Given the description of an element on the screen output the (x, y) to click on. 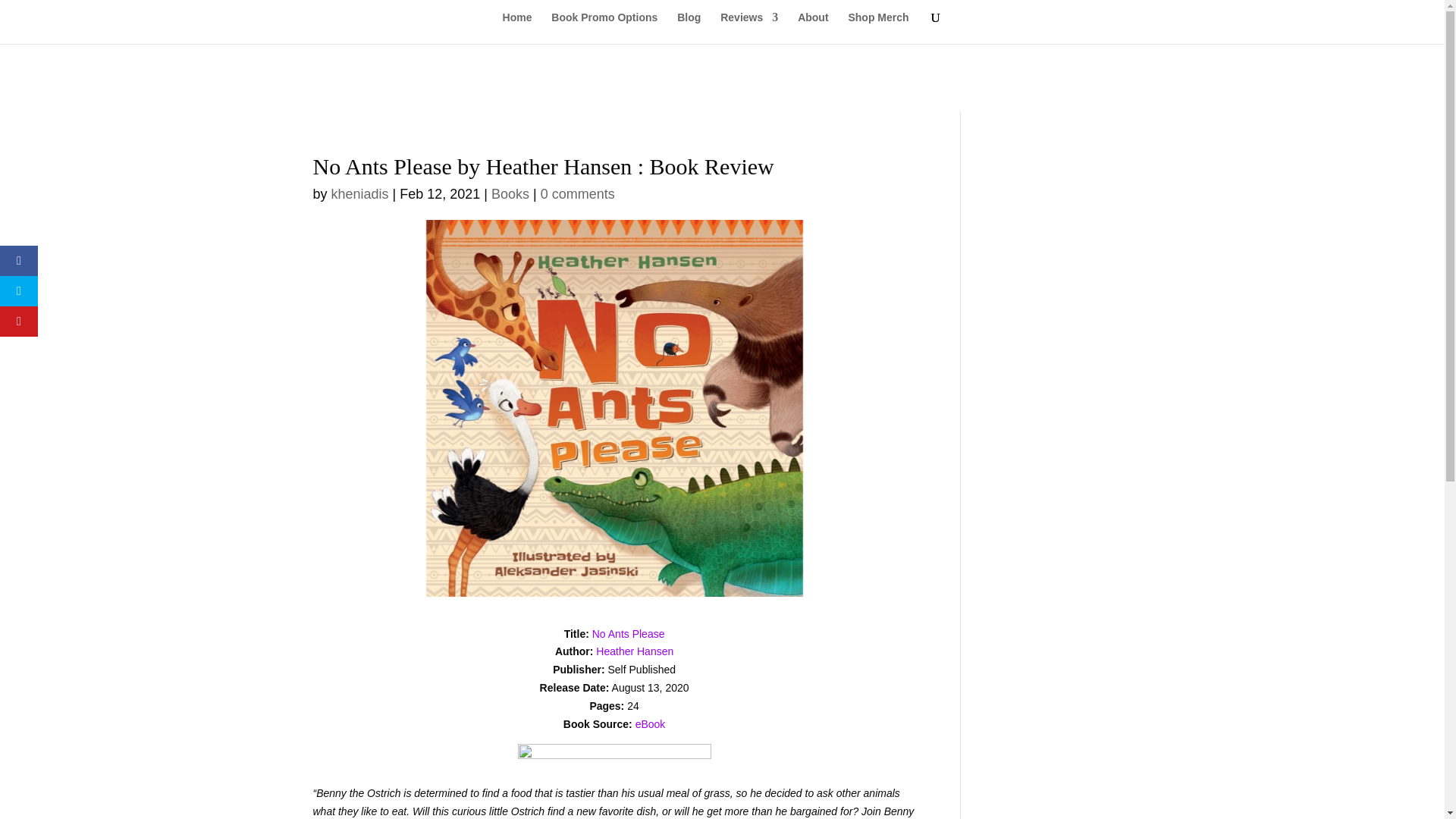
Heather Hansen (633, 651)
About (812, 28)
Books (510, 193)
kheniadis (359, 193)
Posts by kheniadis (359, 193)
Home (517, 28)
Book Promo Options (604, 28)
No Ants Please (628, 633)
Reviews (748, 28)
0 comments (577, 193)
eBook (649, 724)
Shop Merch (877, 28)
